Given the description of an element on the screen output the (x, y) to click on. 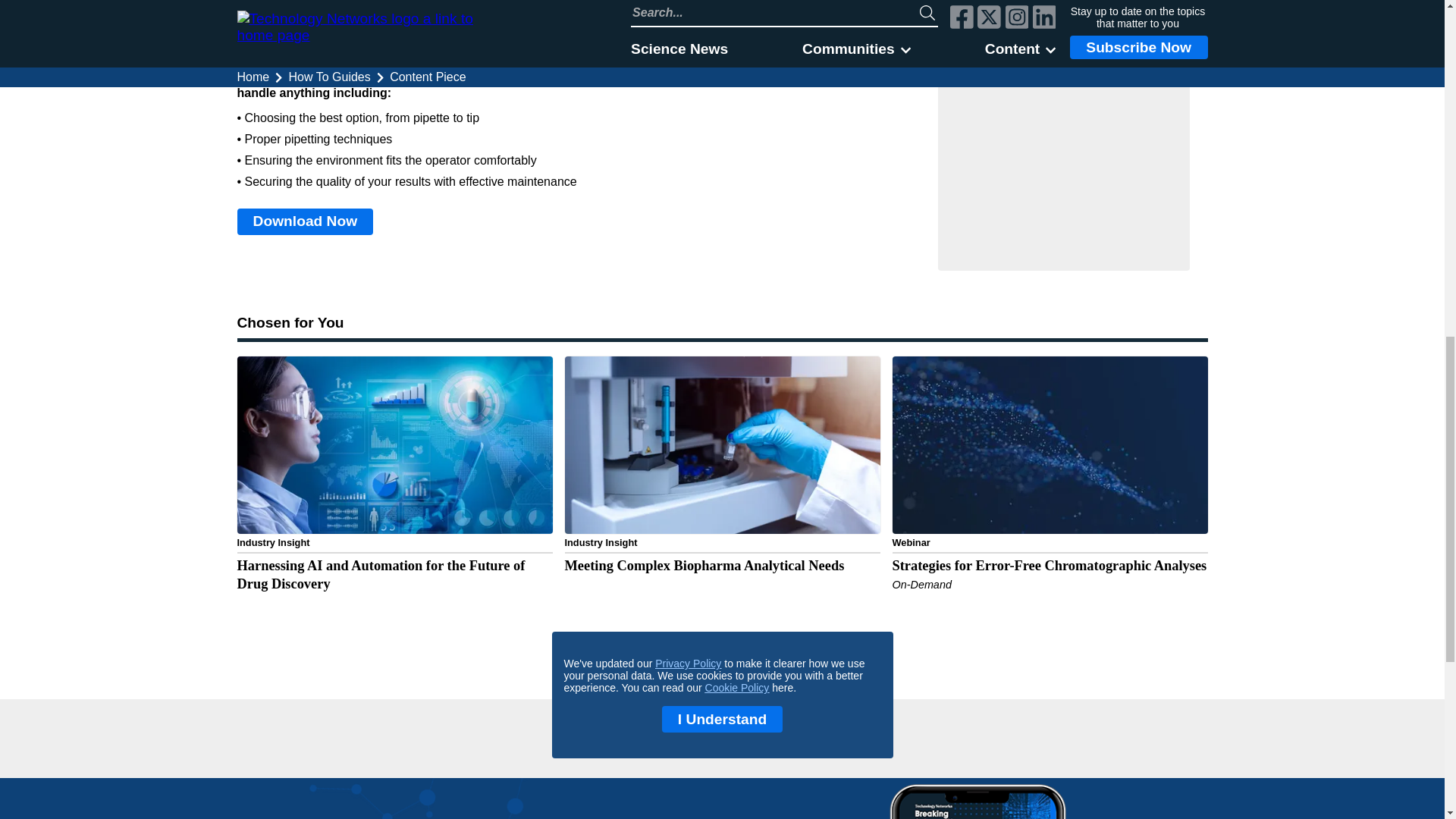
3rd party ad content (721, 742)
Click to view "Meeting Complex Biopharma Analytical Needs" (721, 491)
